Given the description of an element on the screen output the (x, y) to click on. 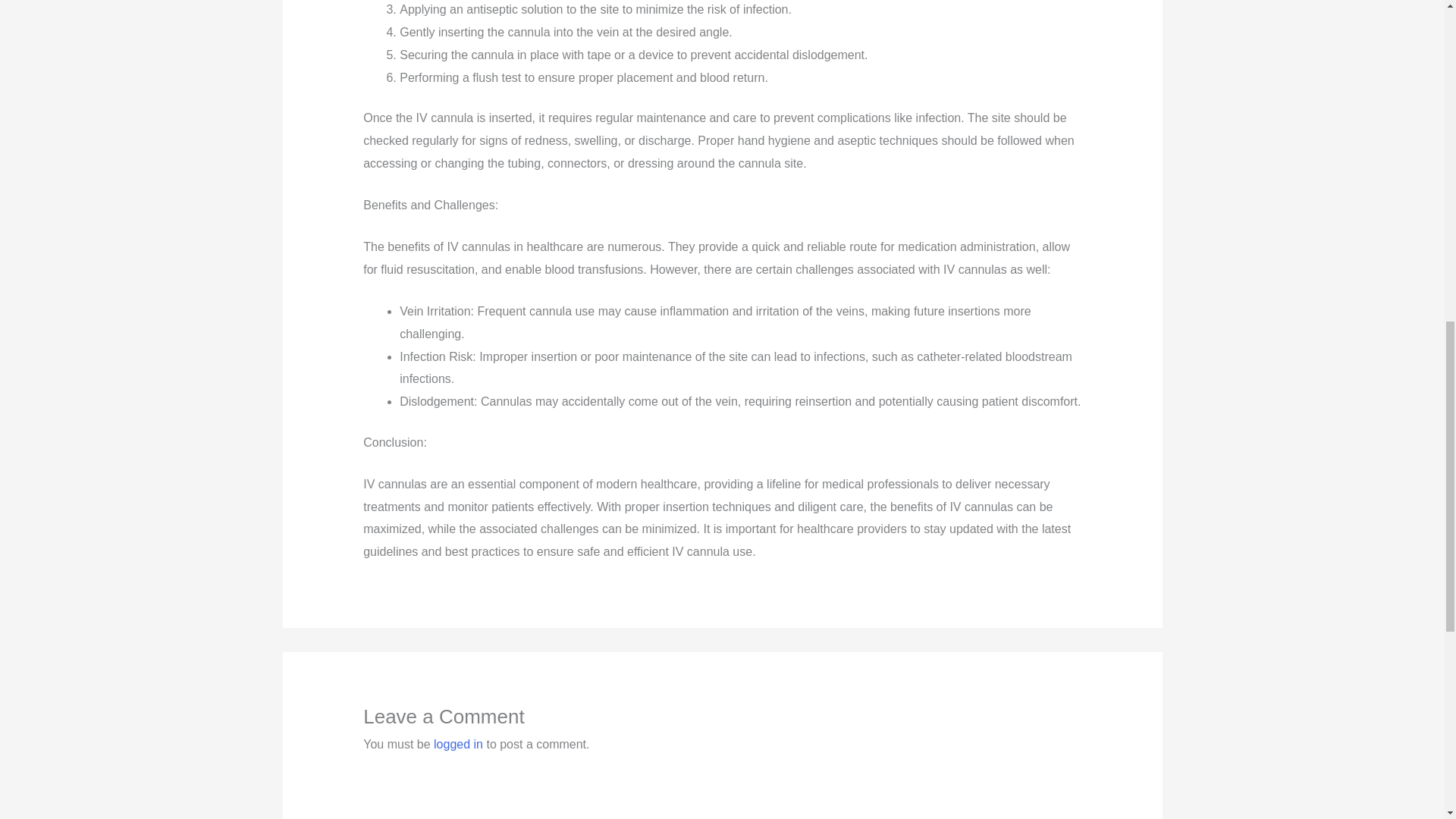
logged in (458, 744)
